Given the description of an element on the screen output the (x, y) to click on. 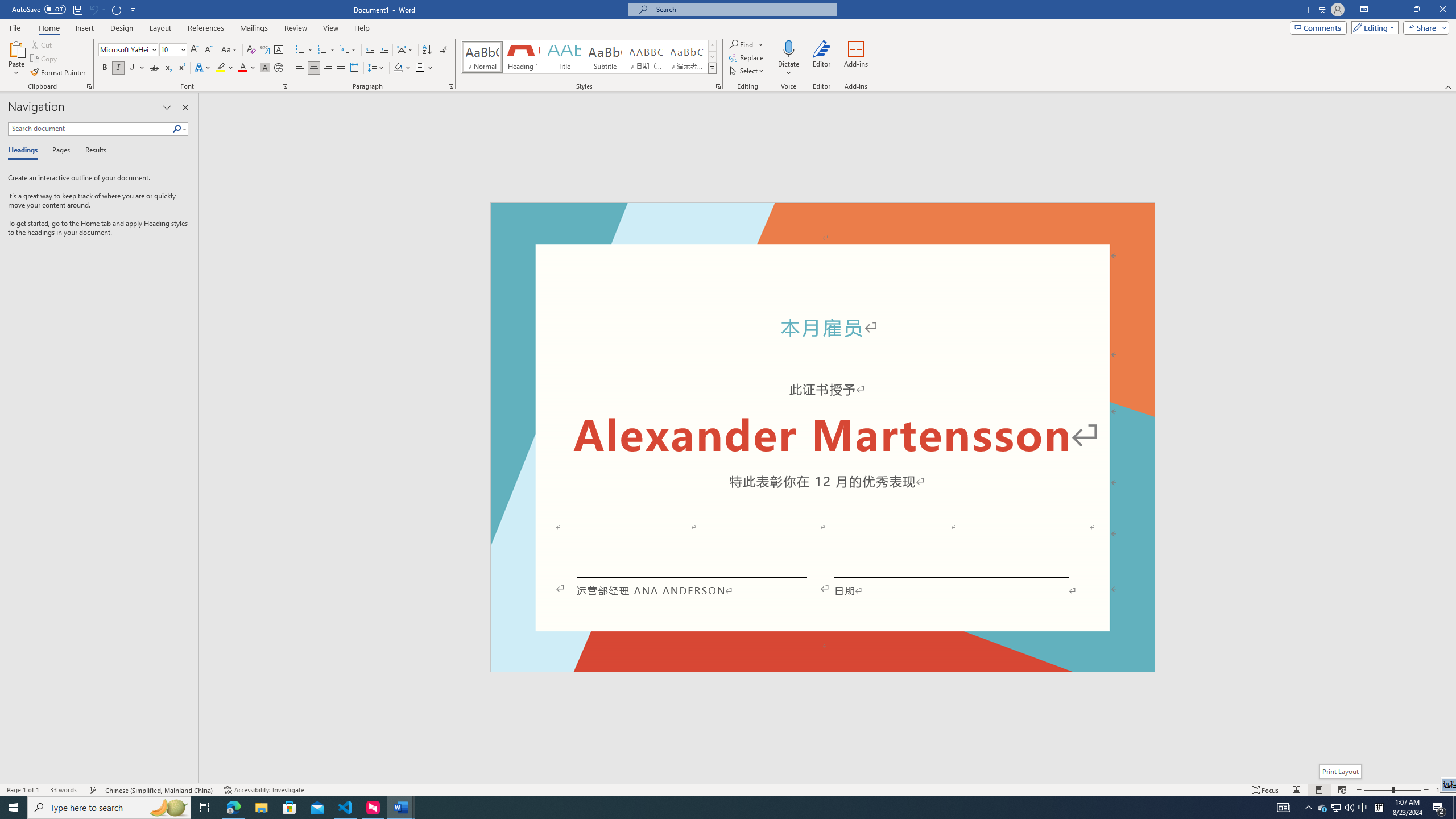
Subtitle (605, 56)
Page 1 content (822, 445)
